Given the description of an element on the screen output the (x, y) to click on. 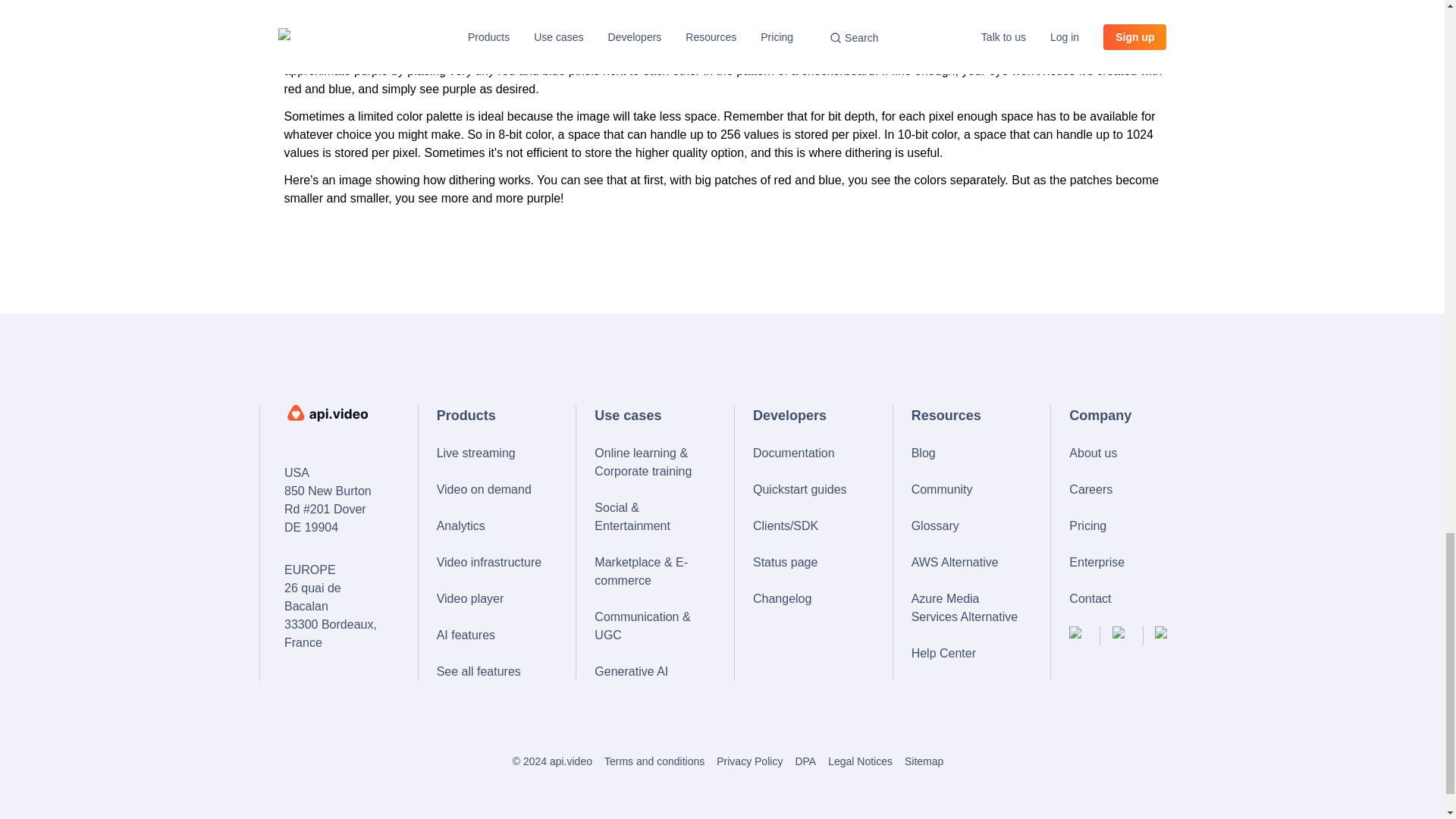
Video player (491, 598)
Analytics (491, 525)
Video infrastructure (491, 562)
Live streaming (491, 453)
Video on demand (491, 489)
